Given the description of an element on the screen output the (x, y) to click on. 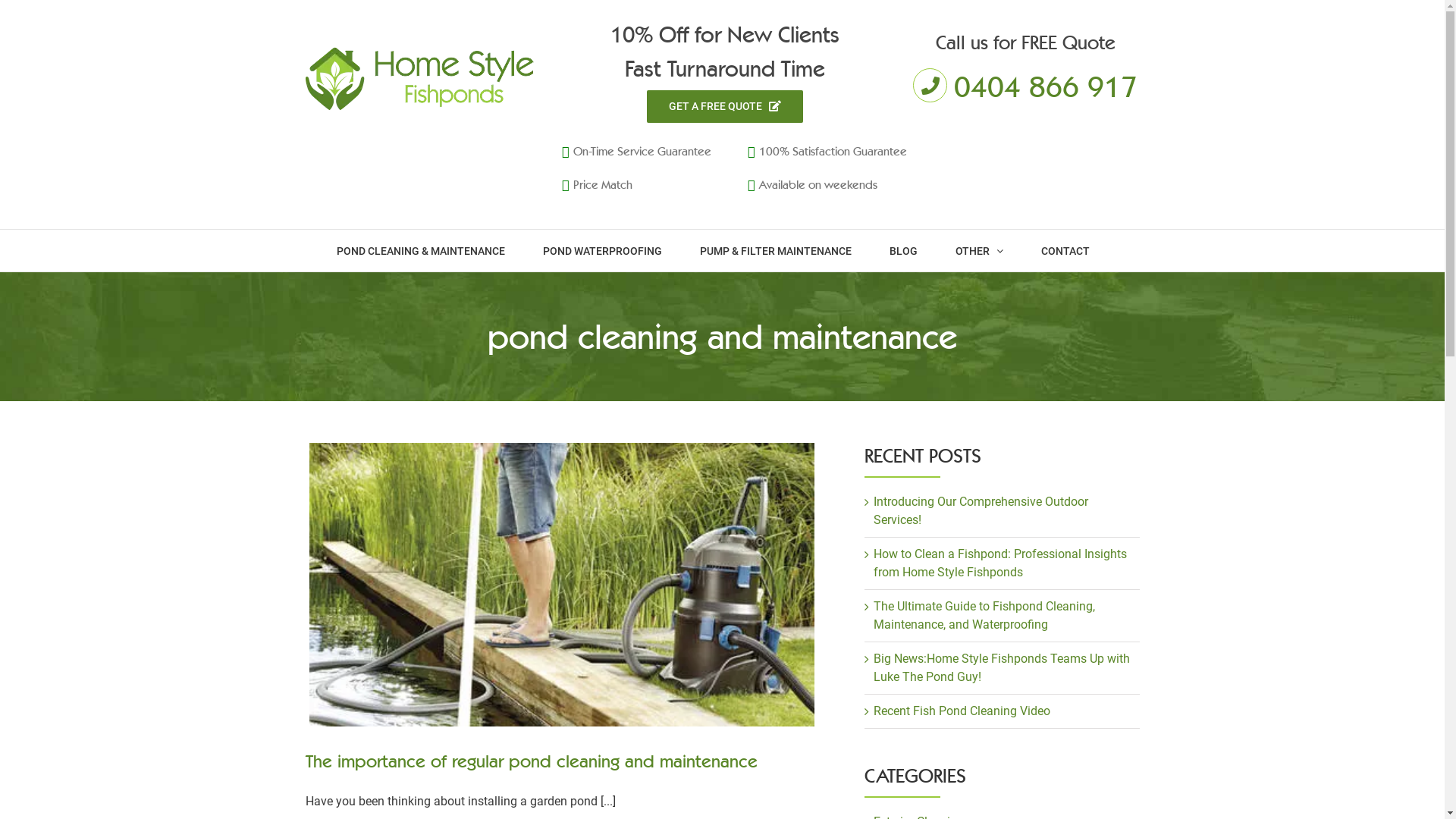
Introducing Our Comprehensive Outdoor Services! Element type: text (980, 510)
PUMP & FILTER MAINTENANCE Element type: text (775, 250)
0404 866 917 Element type: text (1045, 84)
BLOG Element type: text (902, 250)
Recent Fish Pond Cleaning Video Element type: text (961, 710)
POND WATERPROOFING Element type: text (602, 250)
The importance of regular pond cleaning and maintenance Element type: text (530, 760)
GET A FREE QUOTE Element type: text (724, 106)
OTHER Element type: text (978, 250)
CONTACT Element type: text (1064, 250)
POND CLEANING & MAINTENANCE Element type: text (420, 250)
